Given the description of an element on the screen output the (x, y) to click on. 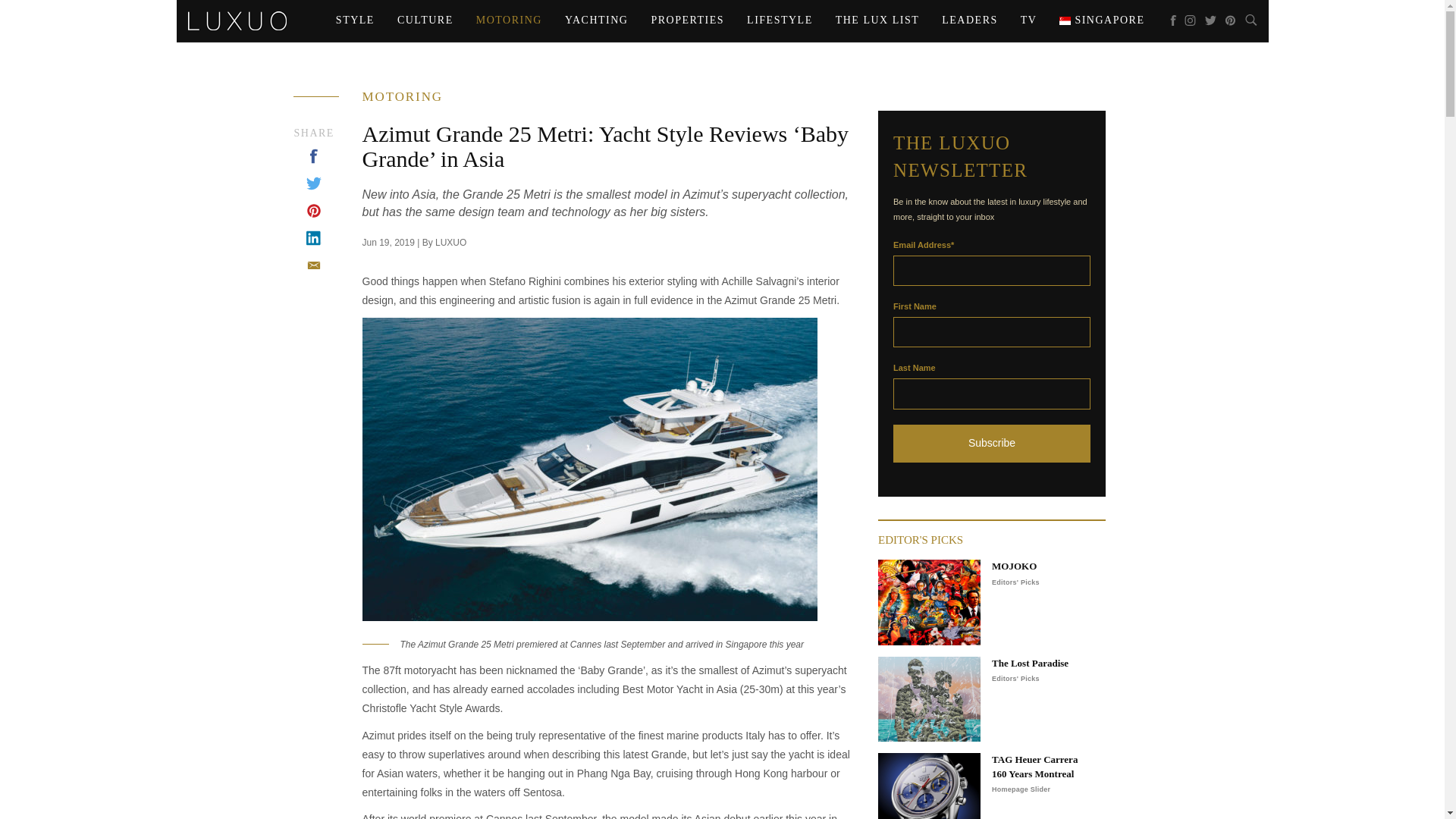
CULTURE (424, 20)
LUXUO SG - The Luxury Lifestyle Portal (236, 18)
Subscribe (991, 443)
LUXUO SG - The Luxury Lifestyle Portal (236, 20)
MOTORING (508, 20)
STYLE (354, 20)
